Given the description of an element on the screen output the (x, y) to click on. 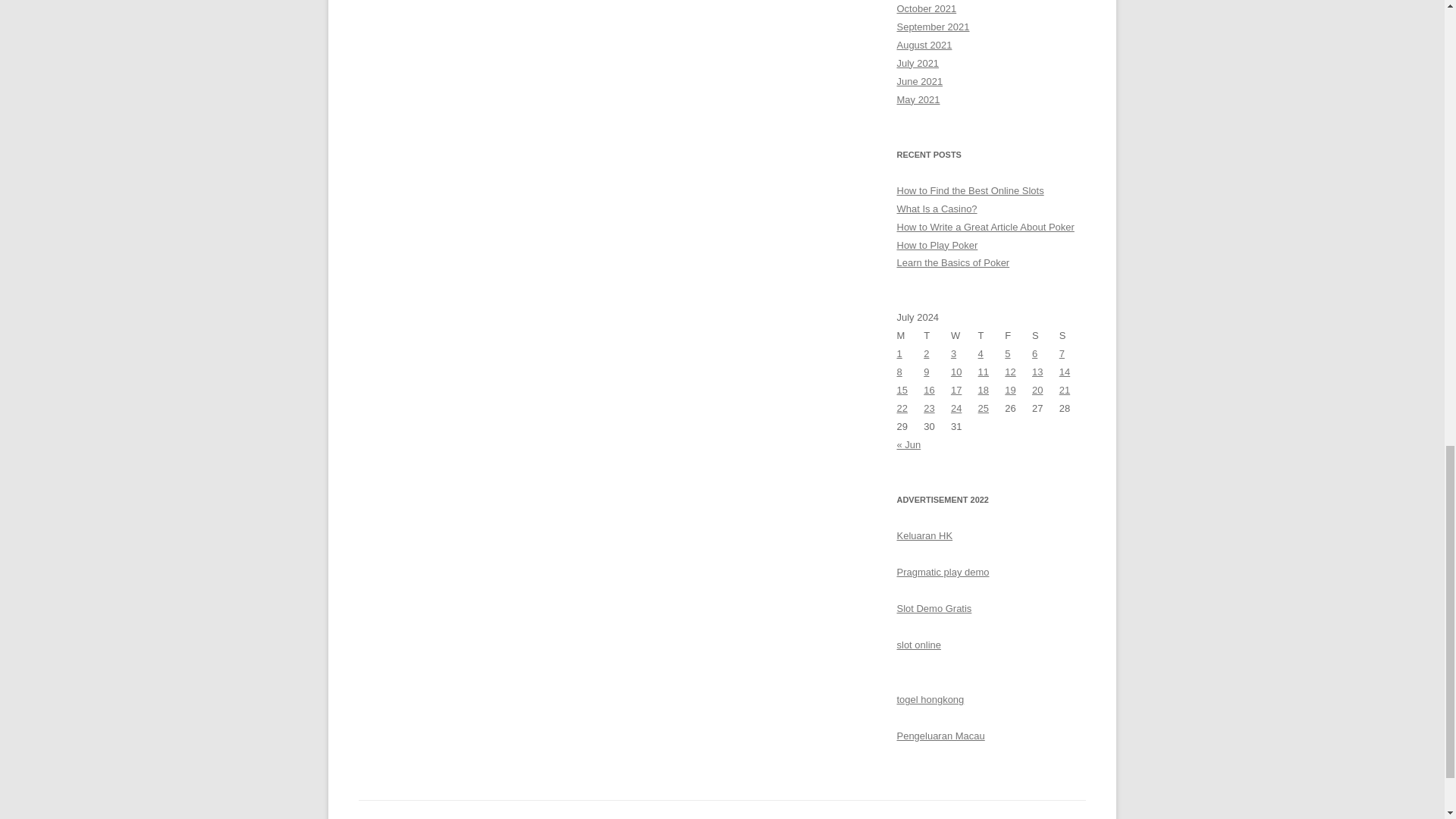
Wednesday (964, 335)
Sunday (1072, 335)
Friday (1018, 335)
Monday (909, 335)
Thursday (992, 335)
Tuesday (936, 335)
Saturday (1045, 335)
